Given the description of an element on the screen output the (x, y) to click on. 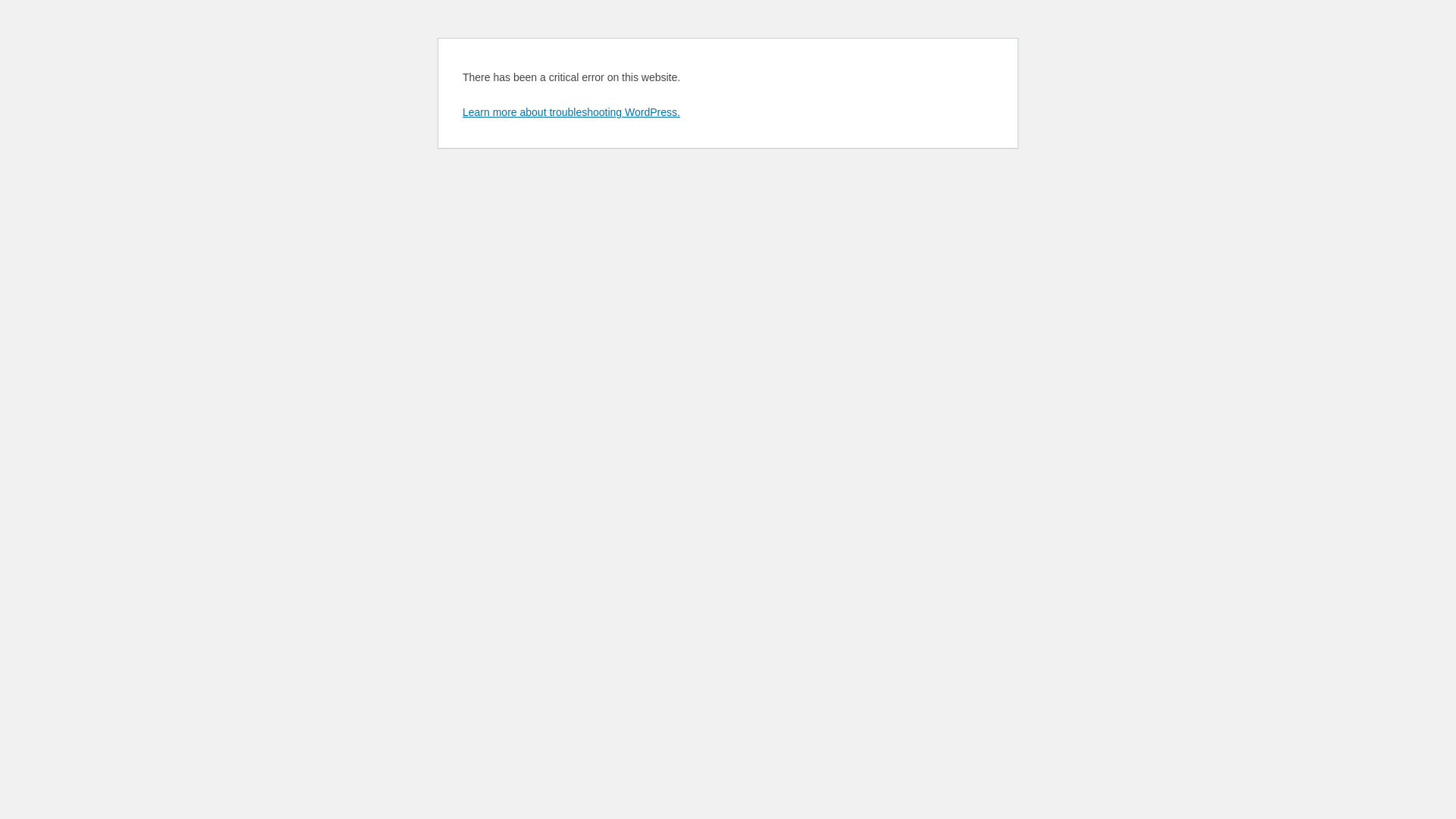
Learn more about troubleshooting WordPress. Element type: text (571, 112)
